Given the description of an element on the screen output the (x, y) to click on. 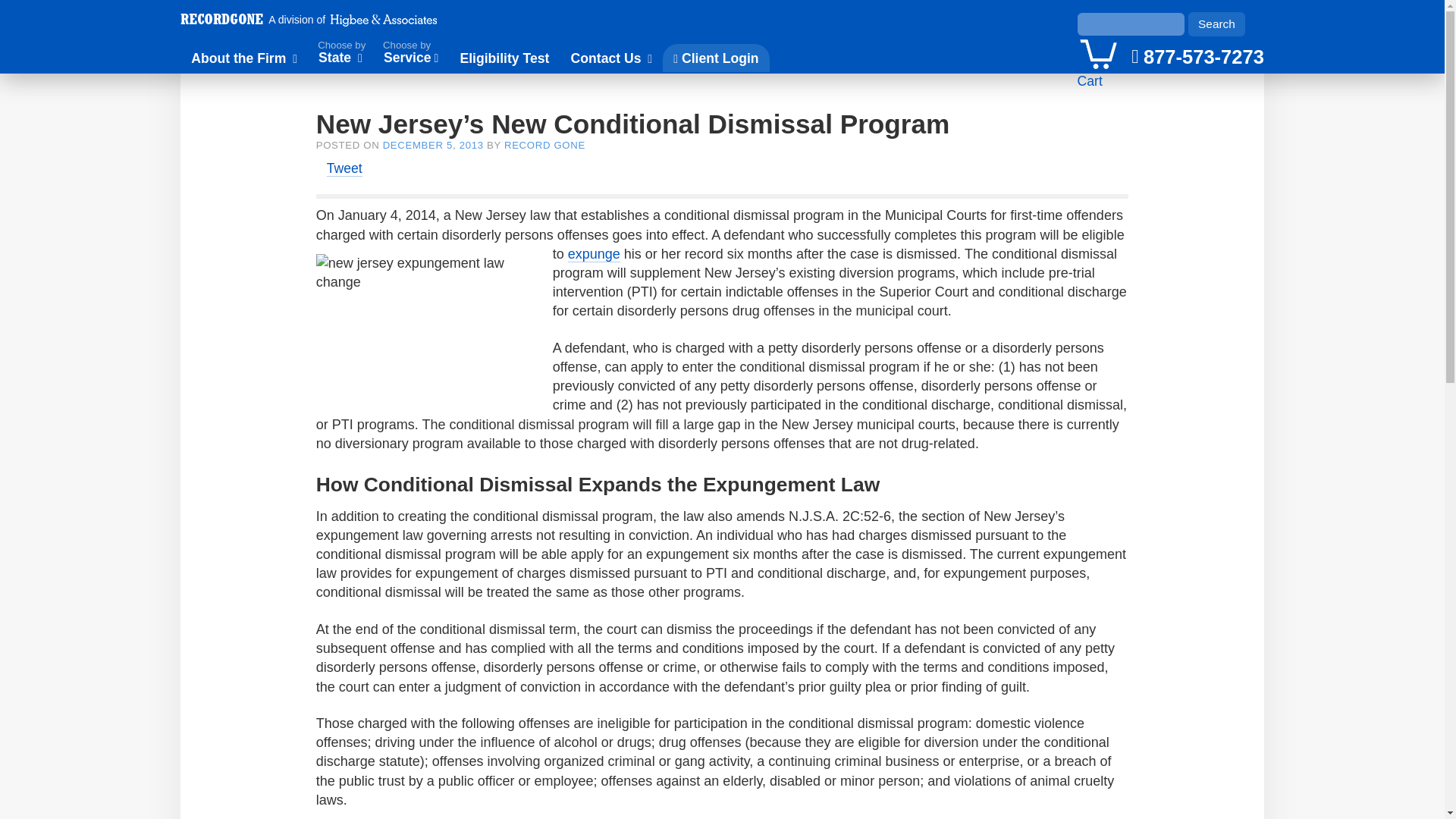
Eligibility Test (503, 58)
List of Services (410, 54)
5:18 pm (432, 144)
Search (1216, 24)
View all posts by Record Gone (544, 144)
Your available services (1098, 52)
Services by State (339, 54)
